Given the description of an element on the screen output the (x, y) to click on. 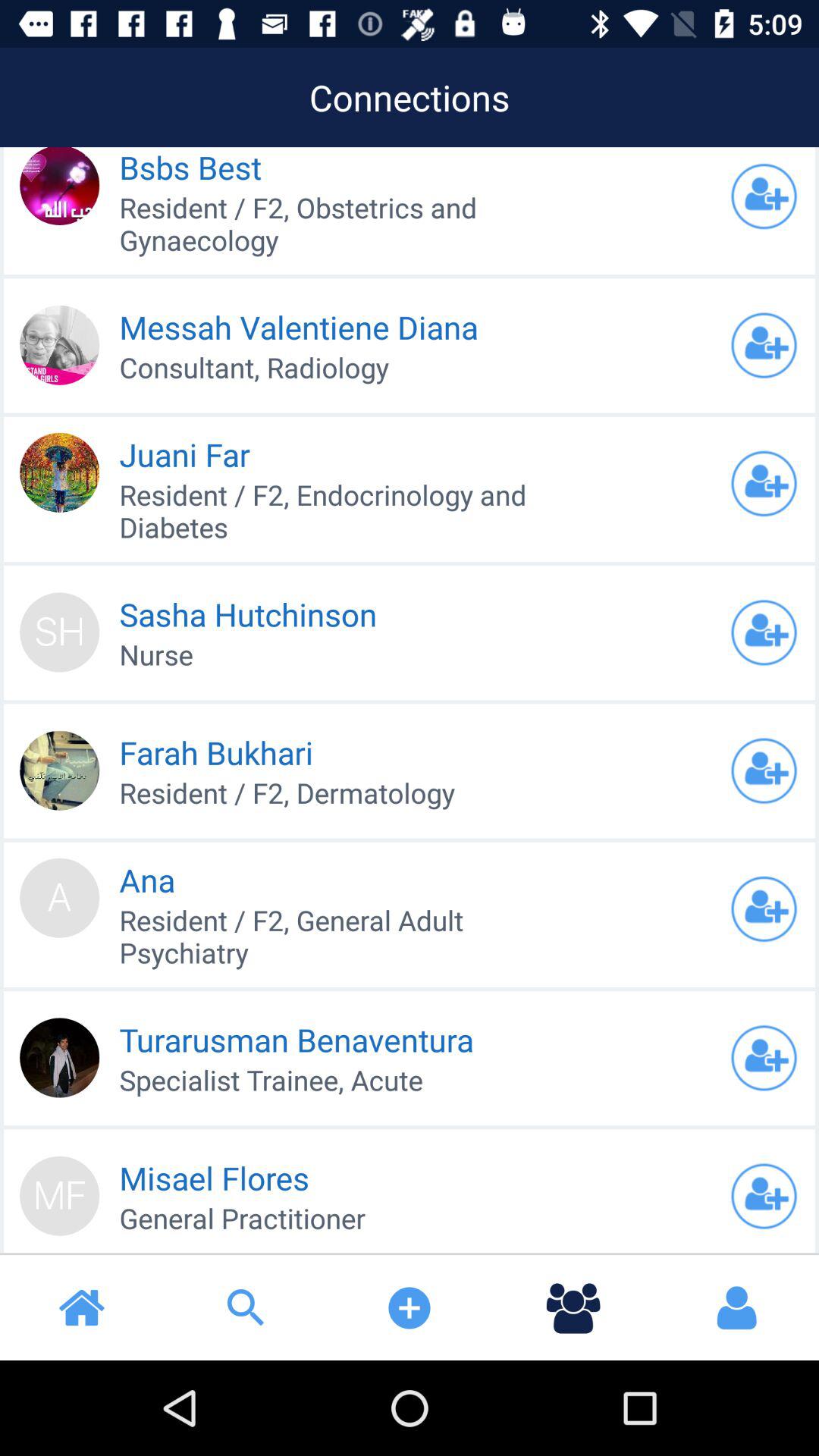
add person (764, 1058)
